Given the description of an element on the screen output the (x, y) to click on. 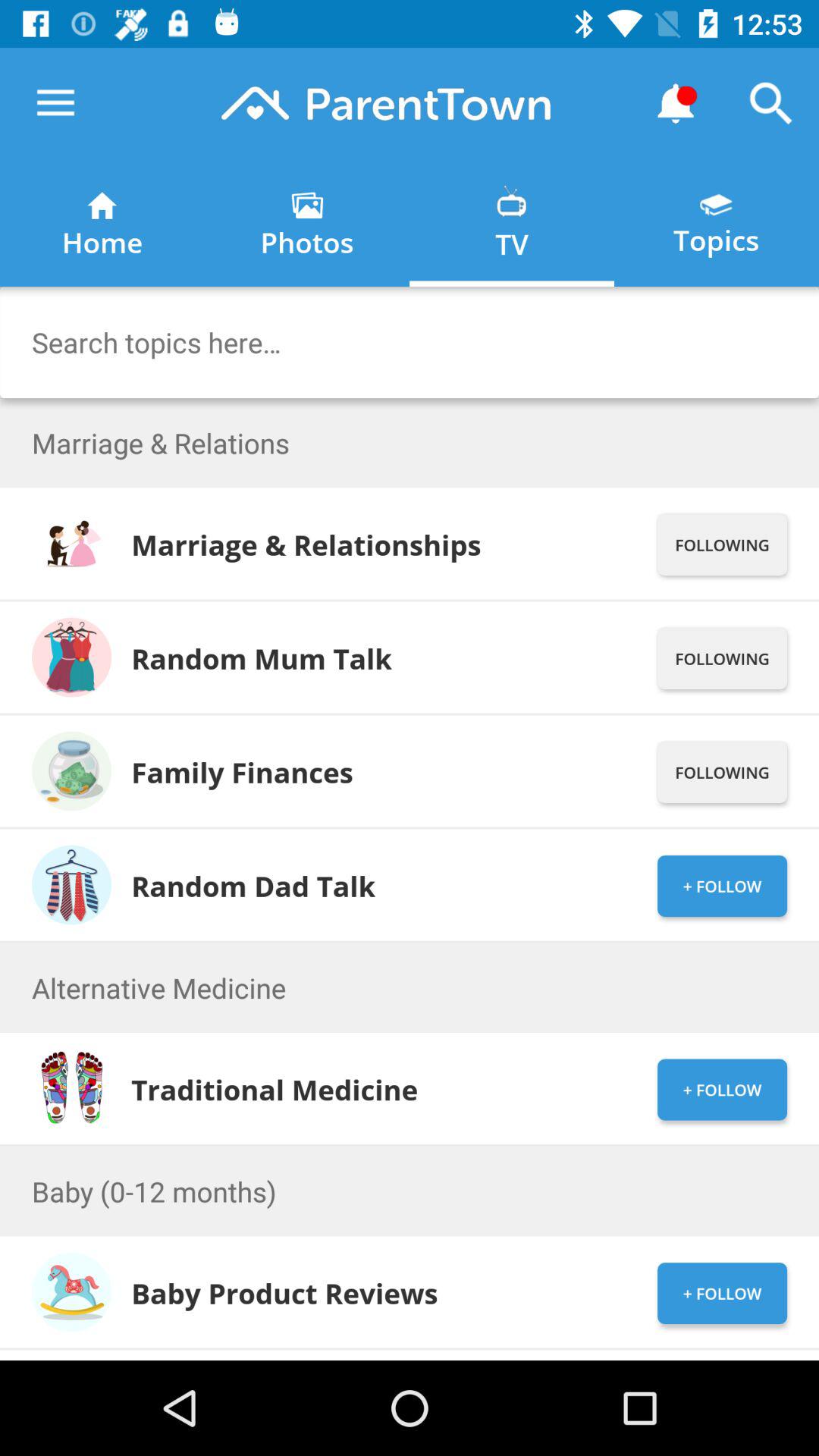
choose item above marriage & relations (409, 342)
